Given the description of an element on the screen output the (x, y) to click on. 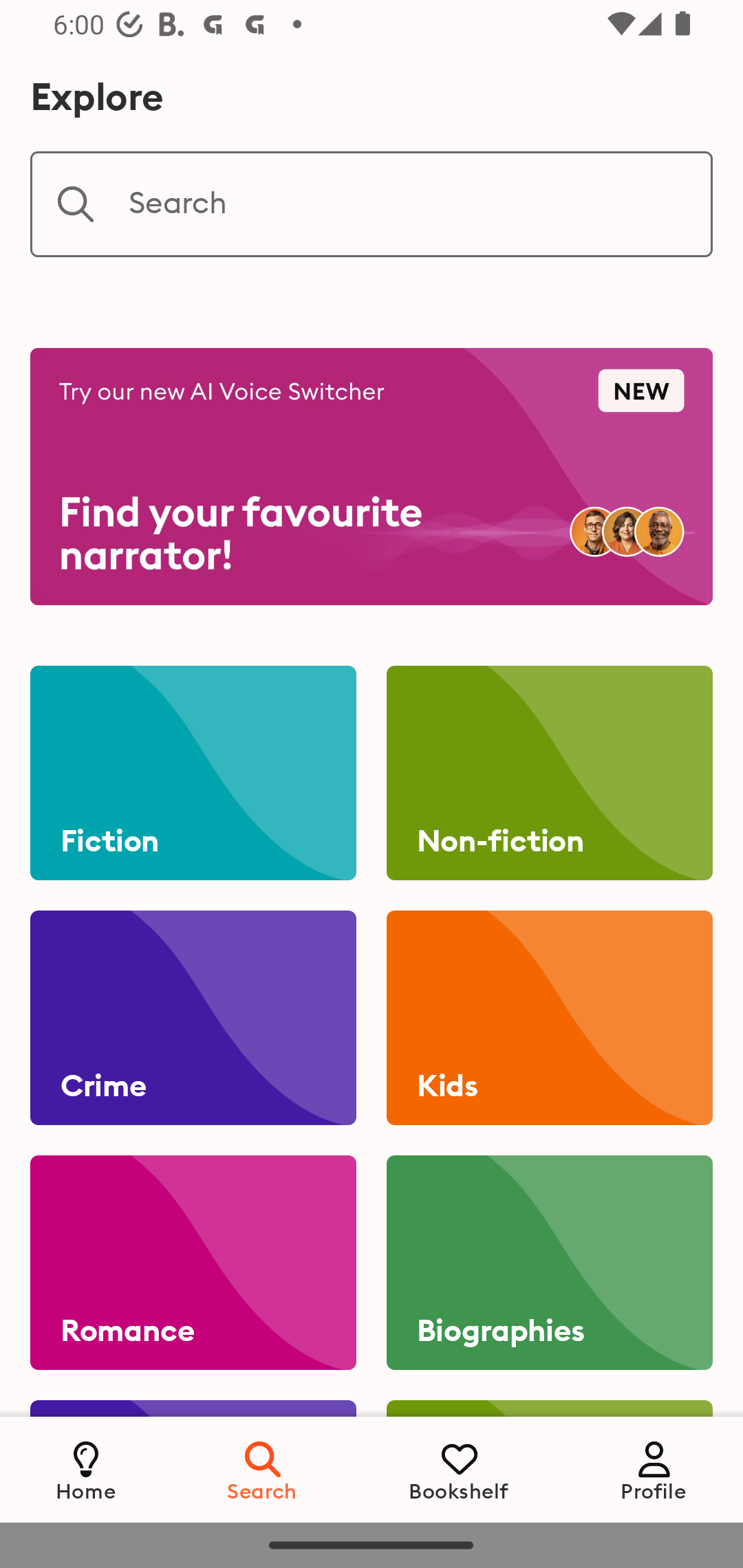
Search (371, 203)
Fiction (193, 772)
Non-fiction (549, 772)
Crime (193, 1018)
Kids (549, 1018)
Romance (193, 1262)
Biographies (549, 1262)
Home (85, 1468)
Search (262, 1468)
Bookshelf (458, 1468)
Profile (653, 1468)
